Given the description of an element on the screen output the (x, y) to click on. 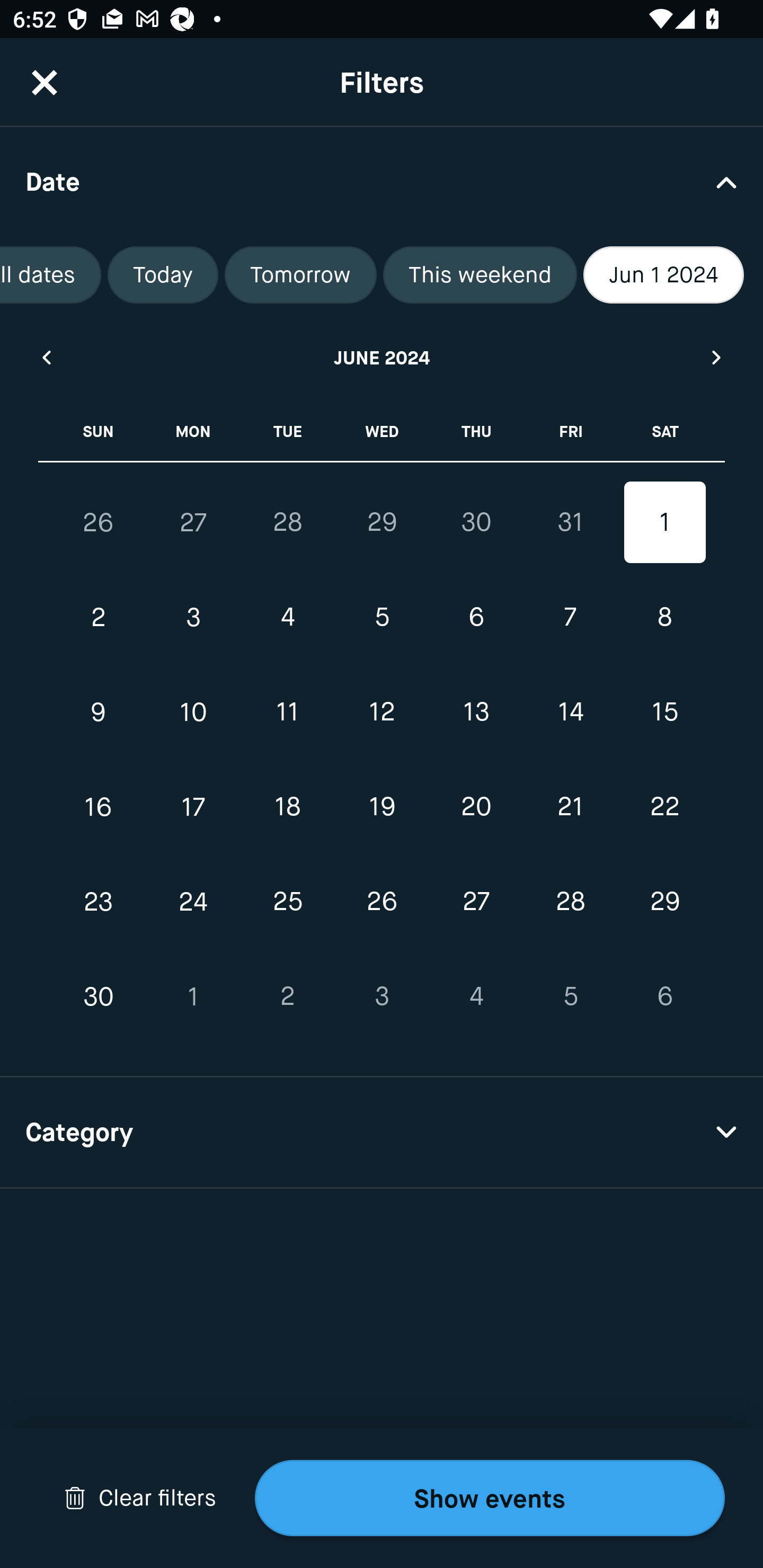
CloseButton (44, 82)
Date Drop Down Arrow (381, 181)
All dates (50, 274)
Today (162, 274)
Tomorrow (300, 274)
This weekend (479, 274)
Jun 1 2024 (663, 274)
Previous (45, 357)
Next (717, 357)
26 (98, 522)
27 (192, 522)
28 (287, 522)
29 (381, 522)
30 (475, 522)
31 (570, 522)
1 (664, 522)
2 (98, 617)
3 (192, 617)
4 (287, 617)
5 (381, 617)
6 (475, 617)
7 (570, 617)
8 (664, 617)
9 (98, 711)
10 (192, 711)
11 (287, 711)
12 (381, 711)
13 (475, 711)
14 (570, 711)
15 (664, 711)
16 (98, 806)
17 (192, 806)
18 (287, 806)
19 (381, 806)
20 (475, 806)
21 (570, 806)
22 (664, 806)
23 (98, 901)
24 (192, 901)
25 (287, 901)
26 (381, 901)
27 (475, 901)
28 (570, 901)
29 (664, 901)
30 (98, 996)
1 (192, 996)
2 (287, 996)
3 (381, 996)
4 (475, 996)
5 (570, 996)
